Given the description of an element on the screen output the (x, y) to click on. 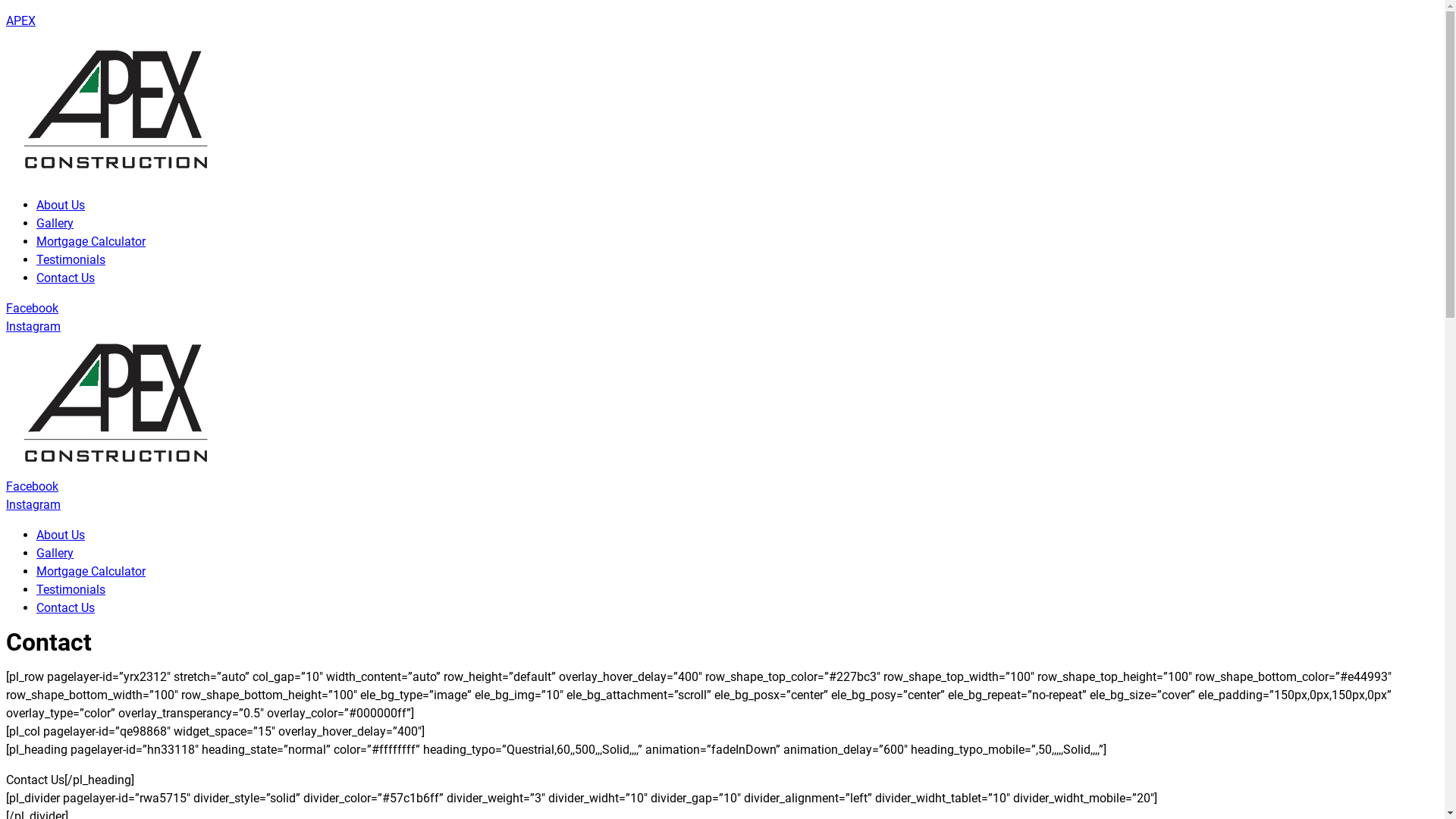
About Us Element type: text (60, 534)
Contact Us Element type: text (65, 277)
Mortgage Calculator Element type: text (90, 571)
Gallery Element type: text (54, 553)
Facebook Element type: text (32, 486)
Mortgage Calculator Element type: text (90, 241)
Gallery Element type: text (54, 223)
About Us Element type: text (60, 204)
Facebook Element type: text (32, 308)
Testimonials Element type: text (70, 589)
Instagram Element type: text (33, 326)
APEX Element type: text (20, 20)
Instagram Element type: text (33, 504)
Contact Us Element type: text (65, 607)
Testimonials Element type: text (70, 259)
